Given the description of an element on the screen output the (x, y) to click on. 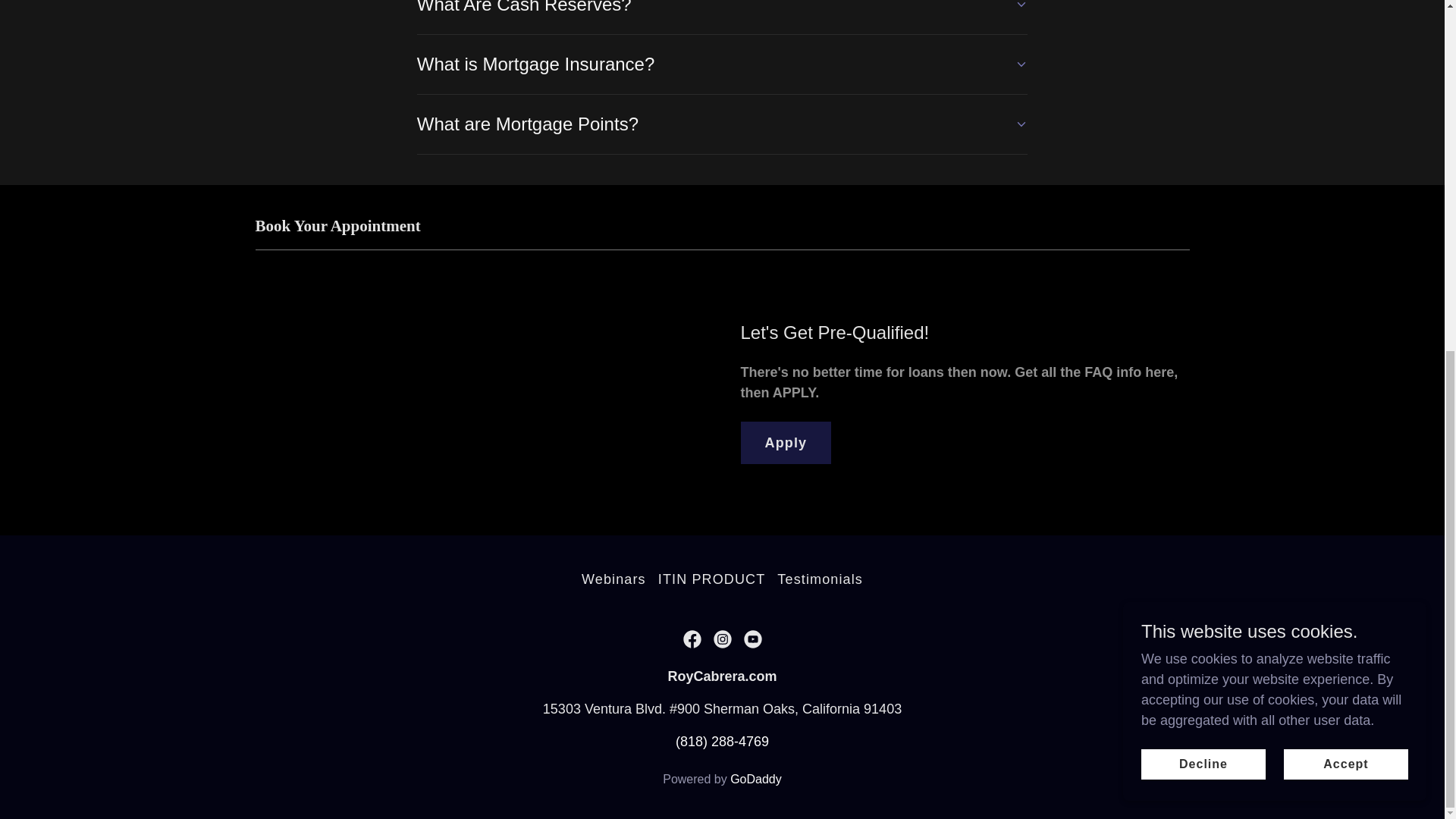
ITIN PRODUCT (711, 579)
What Are Cash Reserves? (721, 11)
Apply (785, 442)
Testimonials (820, 579)
Webinars (613, 579)
What are Mortgage Points? (721, 124)
What is Mortgage Insurance? (721, 63)
